Given the description of an element on the screen output the (x, y) to click on. 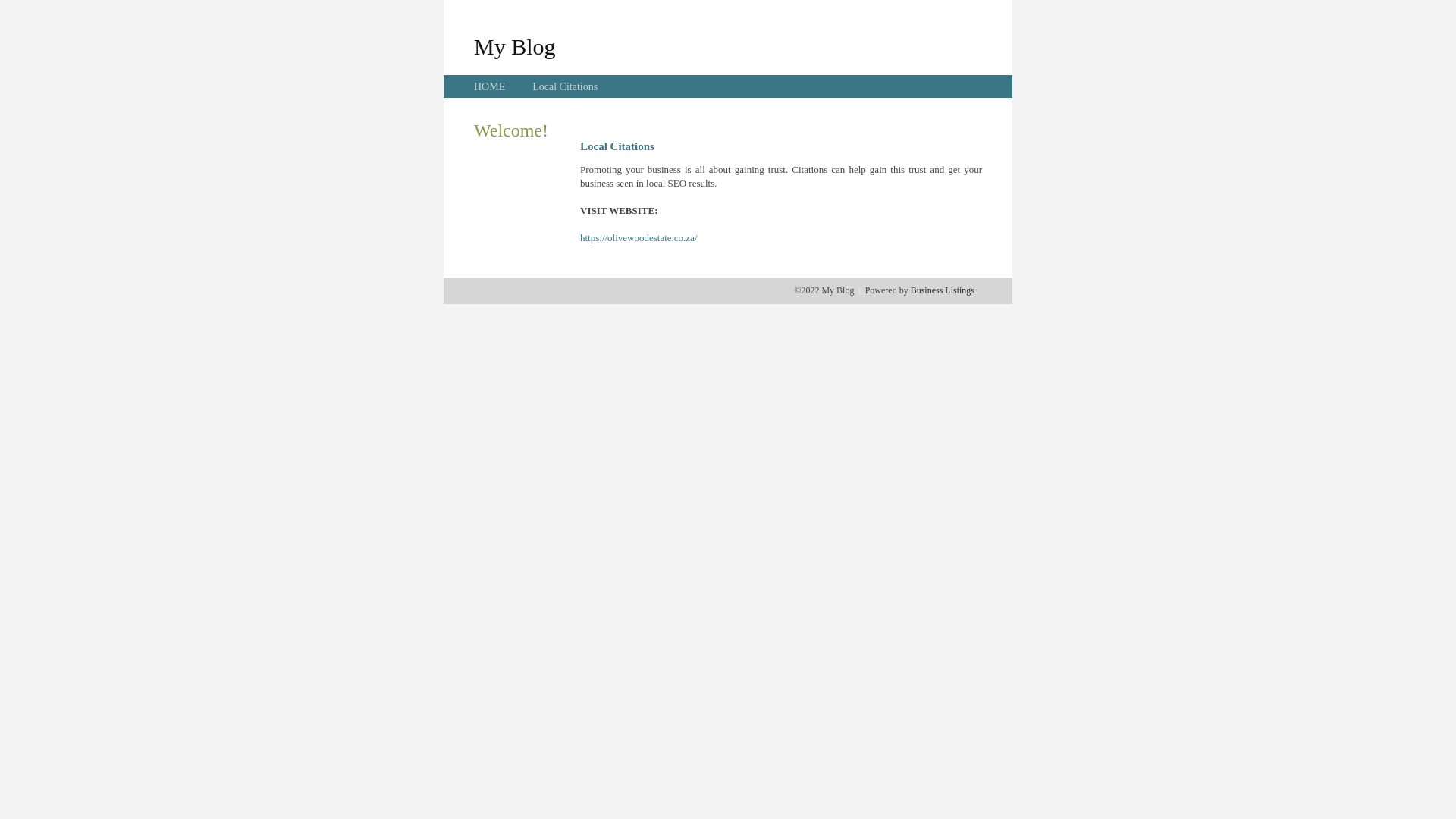
Local Citations Element type: text (564, 86)
HOME Element type: text (489, 86)
https://olivewoodestate.co.za/ Element type: text (638, 237)
My Blog Element type: text (514, 46)
Business Listings Element type: text (942, 290)
